Given the description of an element on the screen output the (x, y) to click on. 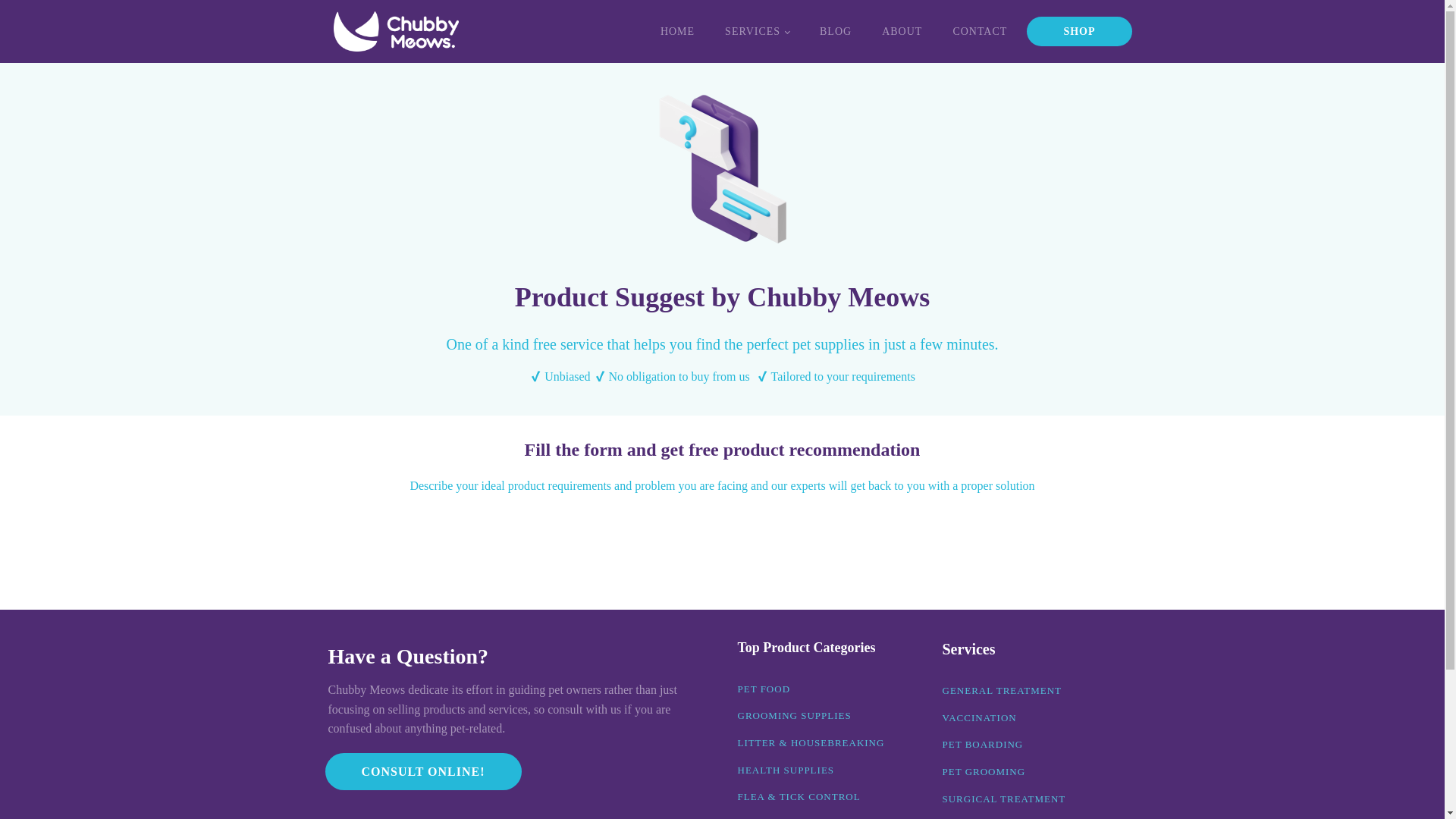
CONTACT (979, 31)
HEALTH SUPPLIES (785, 770)
BLOG (835, 31)
PET FOOD (763, 689)
PET GROOMING (983, 771)
CONSULT ONLINE! (422, 771)
GENERAL TREATMENT (1001, 690)
SHOP (1078, 30)
GROOMING SUPPLIES (793, 715)
HOME (677, 31)
